Given the description of an element on the screen output the (x, y) to click on. 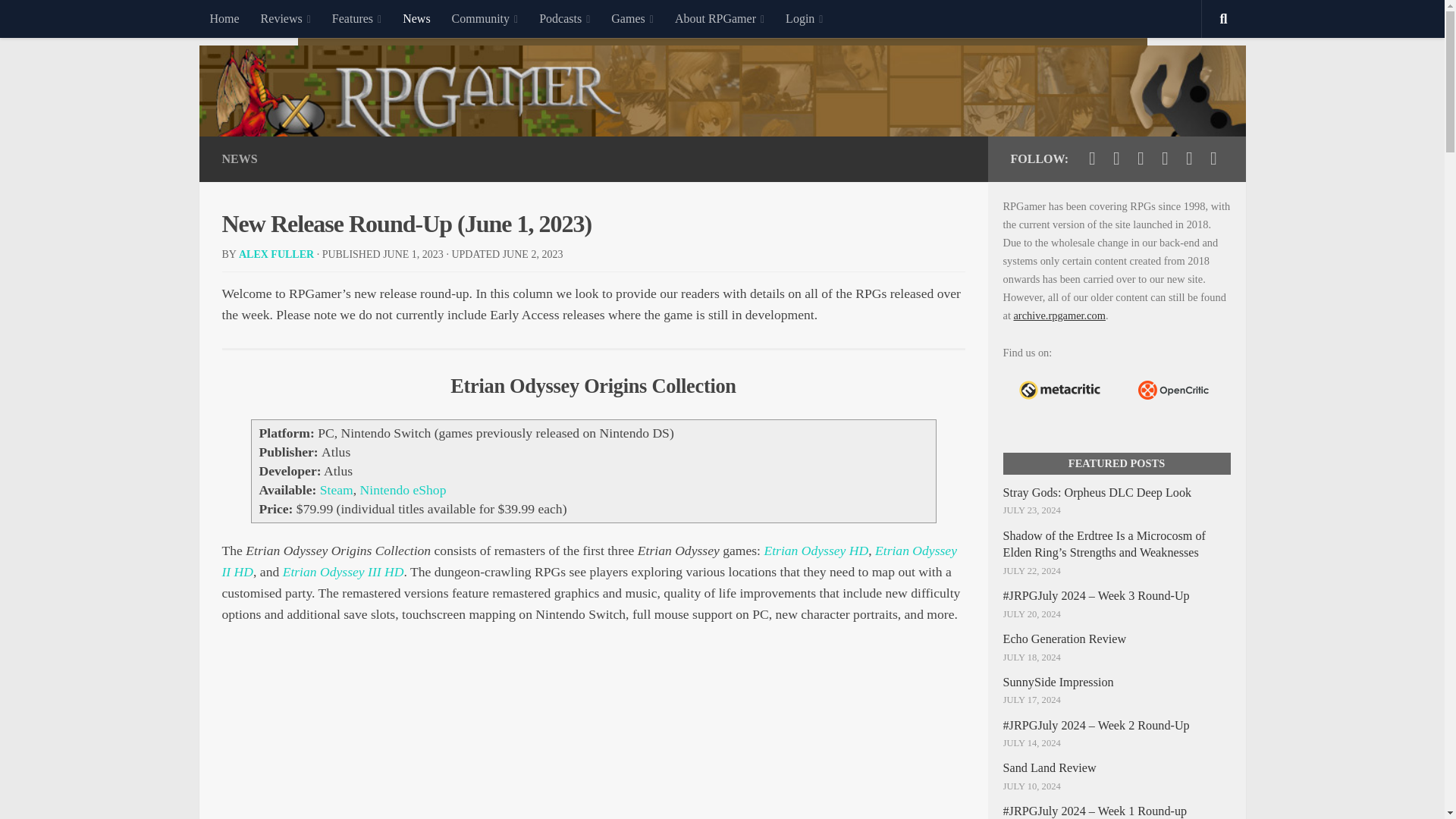
YouTube video player (592, 736)
Skip to content (59, 20)
Posts by Alex Fuller (276, 254)
Follow us on Twitter (1091, 158)
Follow us on Facebook (1115, 158)
